Given the description of an element on the screen output the (x, y) to click on. 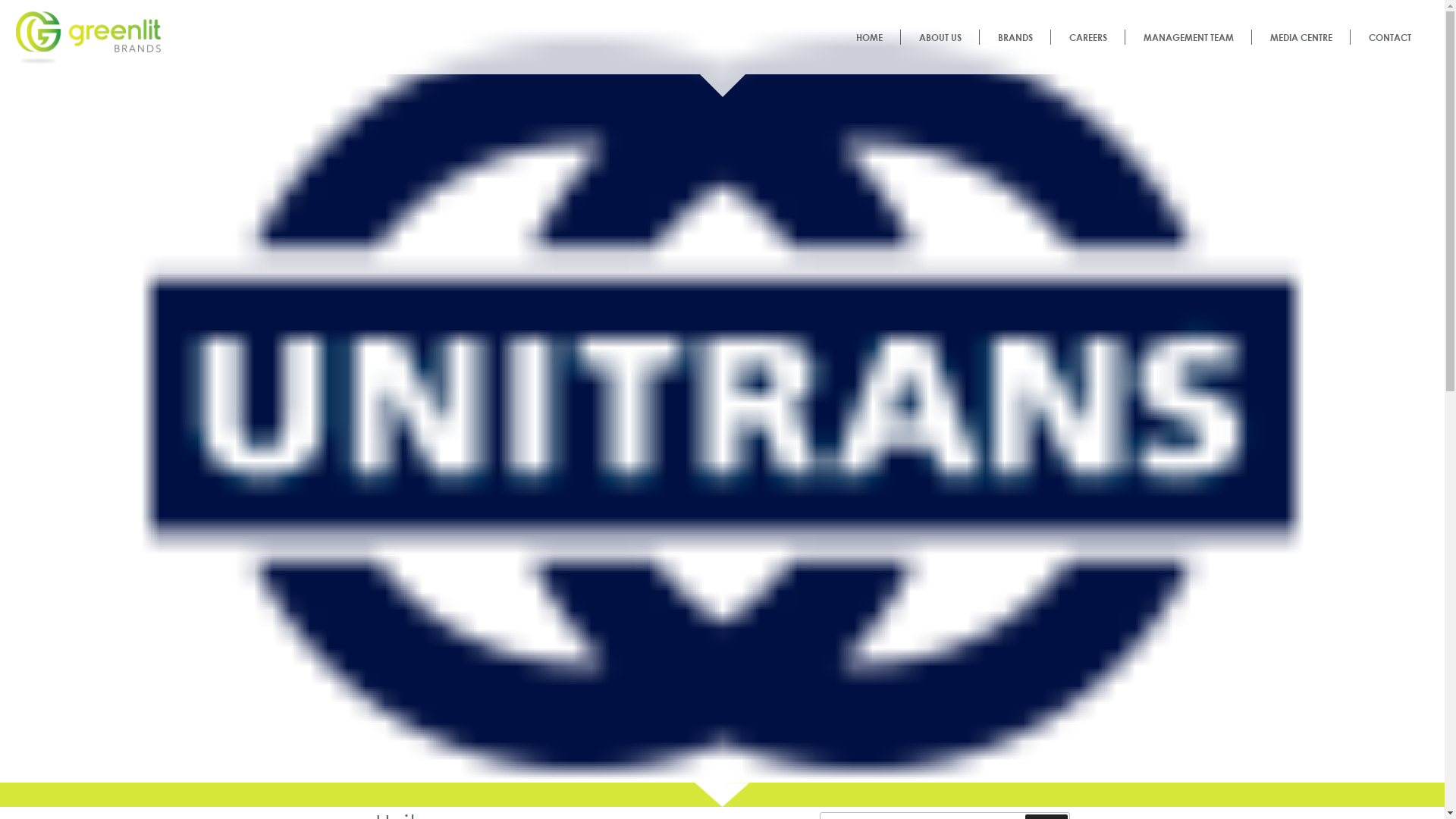
MANAGEMENT TEAM Element type: text (1188, 36)
MEDIA CENTRE Element type: text (1301, 36)
Skip to content Element type: text (0, 0)
HOME Element type: text (868, 36)
BRANDS Element type: text (1015, 36)
ABOUT US Element type: text (939, 36)
CAREERS Element type: text (1088, 36)
CONTACT Element type: text (1389, 36)
